Given the description of an element on the screen output the (x, y) to click on. 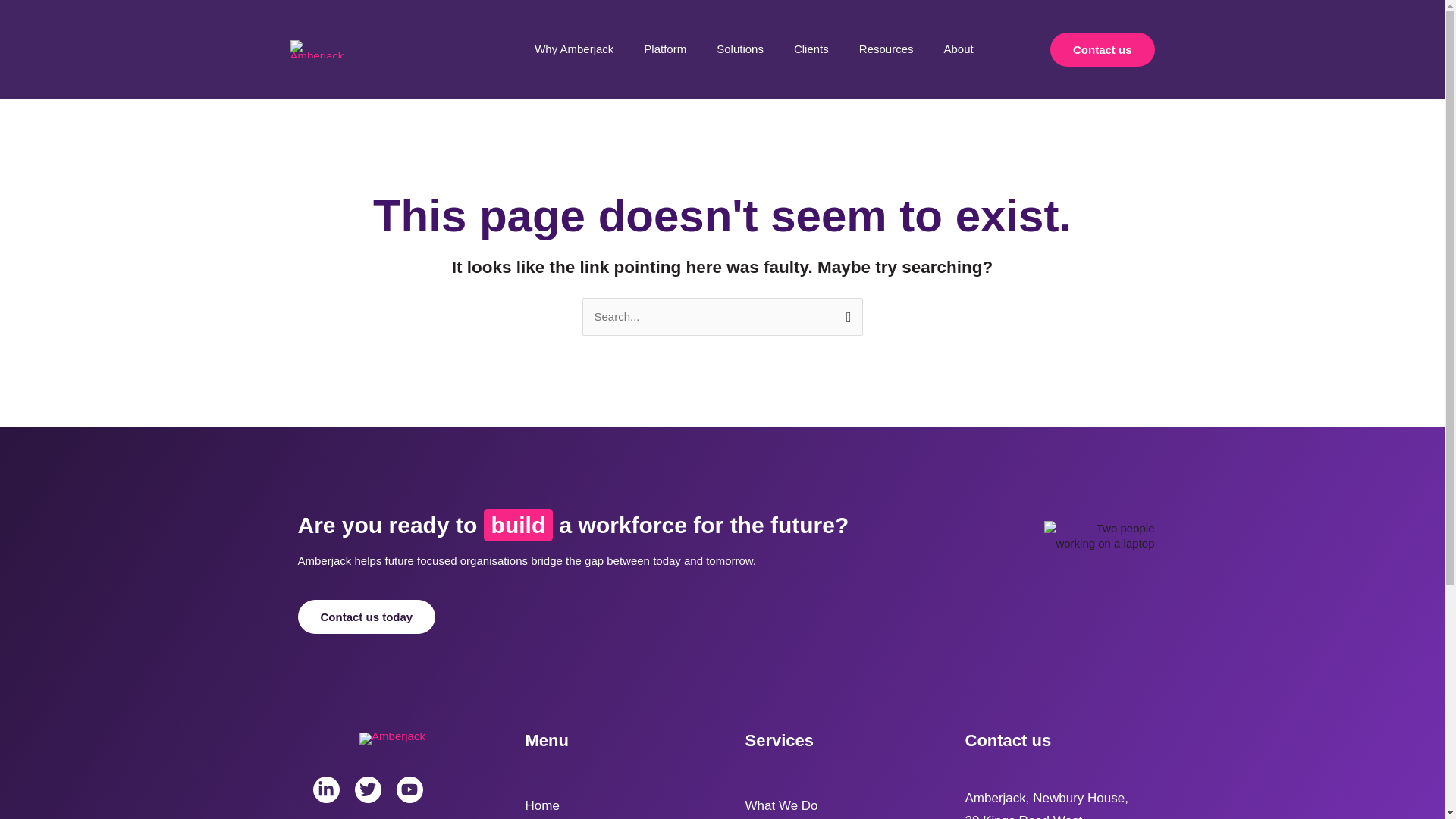
Solutions (739, 48)
Search (844, 312)
Why Amberjack (573, 48)
About (958, 48)
Resources (886, 48)
Search (844, 312)
Platform (664, 48)
Clients (811, 48)
